Given the description of an element on the screen output the (x, y) to click on. 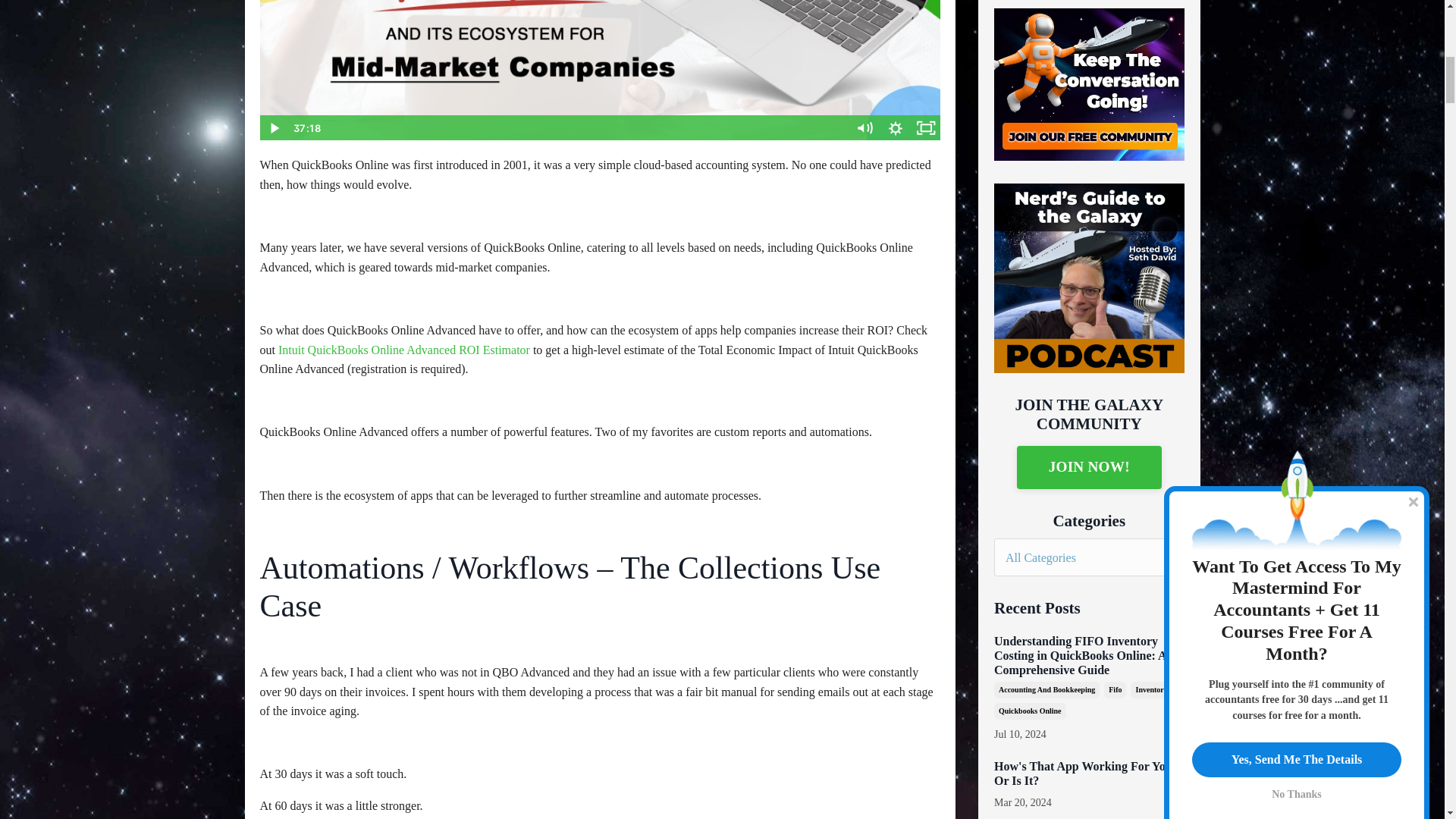
Show settings menu (895, 127)
Intuit QuickBooks Online Advanced ROI Estimator (403, 349)
